Given the description of an element on the screen output the (x, y) to click on. 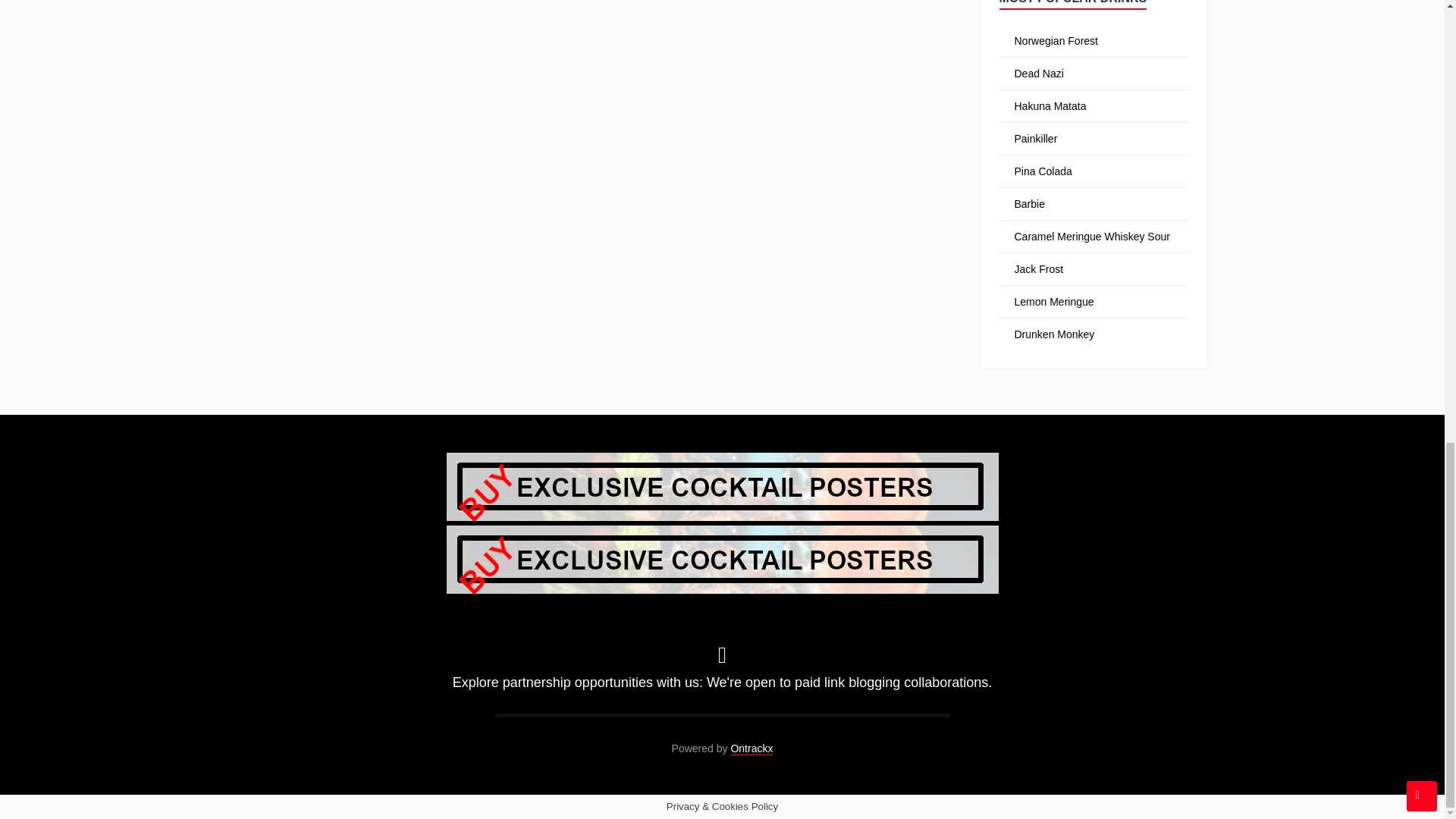
Norwegian Forest (1056, 40)
Pina Colada (1042, 171)
Jack Frost (1039, 268)
Caramel Meringue Whiskey Sour (1092, 236)
Hakuna Matata (1050, 105)
Drunken Monkey (1054, 334)
Dead Nazi (1039, 73)
Lemon Meringue (1054, 301)
Barbie (1029, 203)
Painkiller (1036, 138)
